Given the description of an element on the screen output the (x, y) to click on. 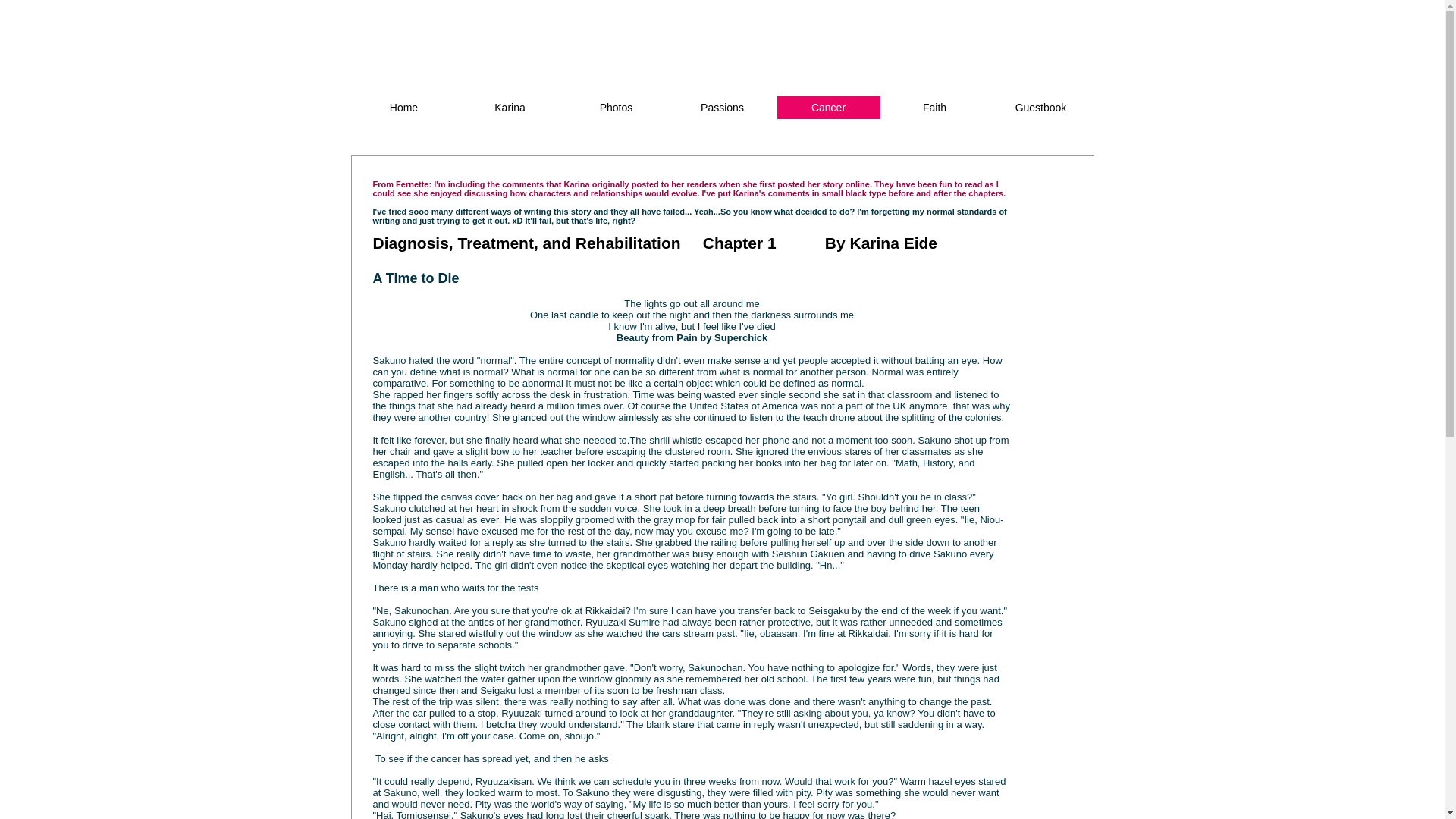
Passions (721, 107)
Home (403, 107)
Photos (615, 107)
Cancer (827, 107)
Guestbook (1040, 107)
Karina (509, 107)
Faith (933, 107)
